Given the description of an element on the screen output the (x, y) to click on. 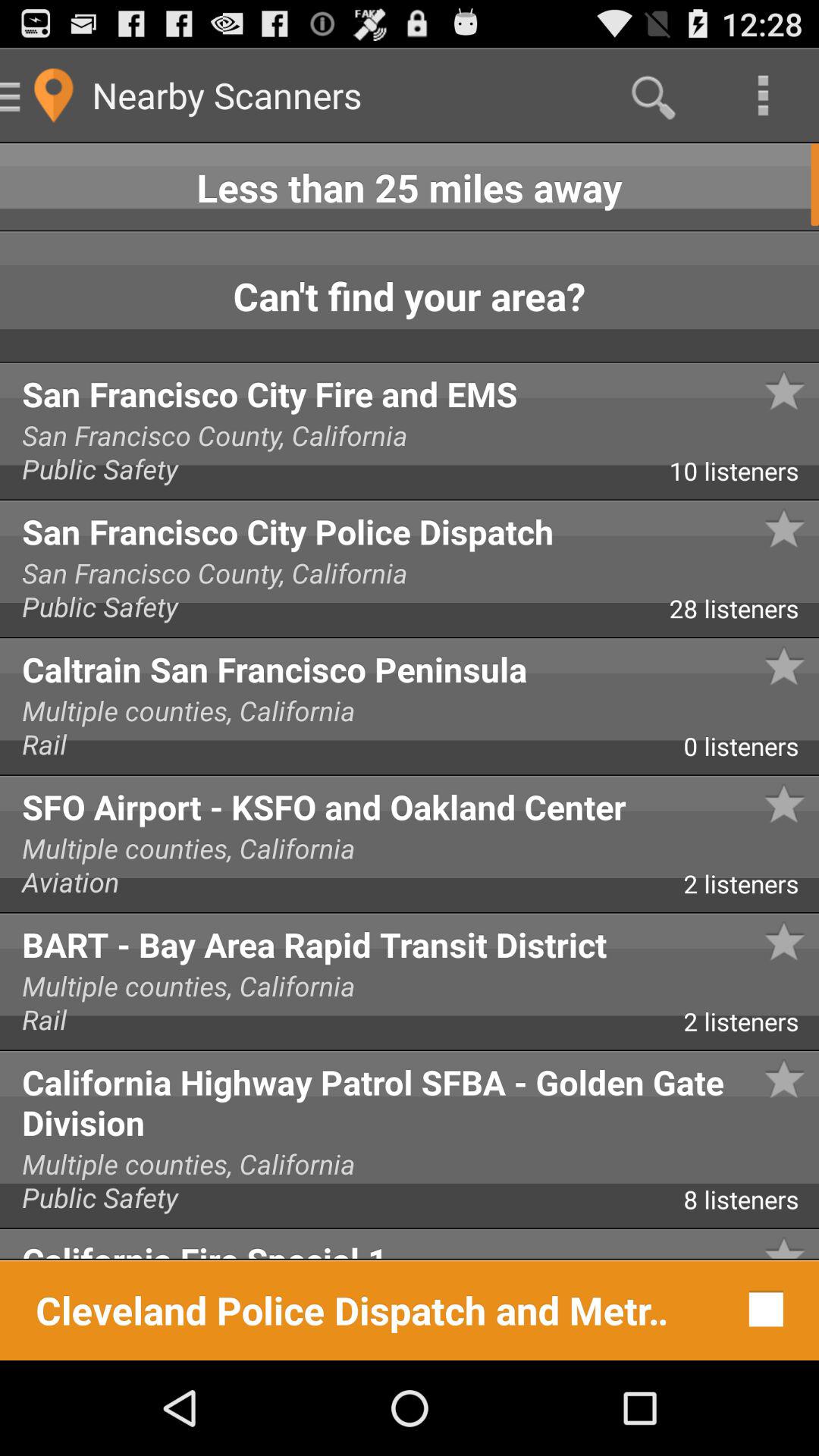
turn on app next to the public safety app (744, 476)
